Given the description of an element on the screen output the (x, y) to click on. 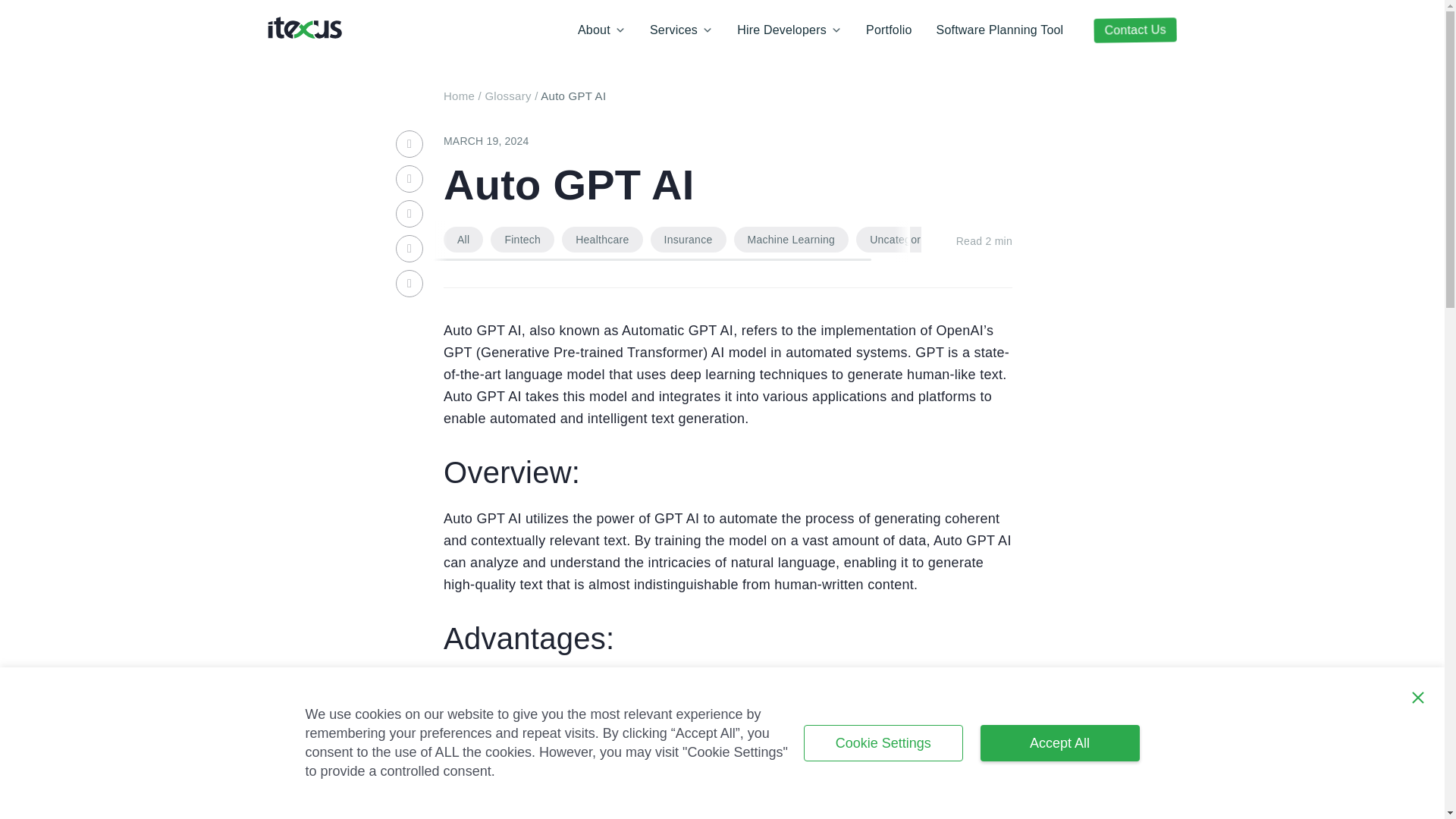
About (601, 30)
Share in Linkedin (409, 144)
Contact Us (1135, 30)
Share in Facebook (409, 178)
Hire Developers (789, 30)
Go to Glossary. (507, 95)
Share in Reddit (409, 248)
Share in Twitter (409, 213)
Portfolio (888, 30)
Software Planning Tool (999, 30)
Copy to Clipboard (409, 283)
Services (681, 30)
